Given the description of an element on the screen output the (x, y) to click on. 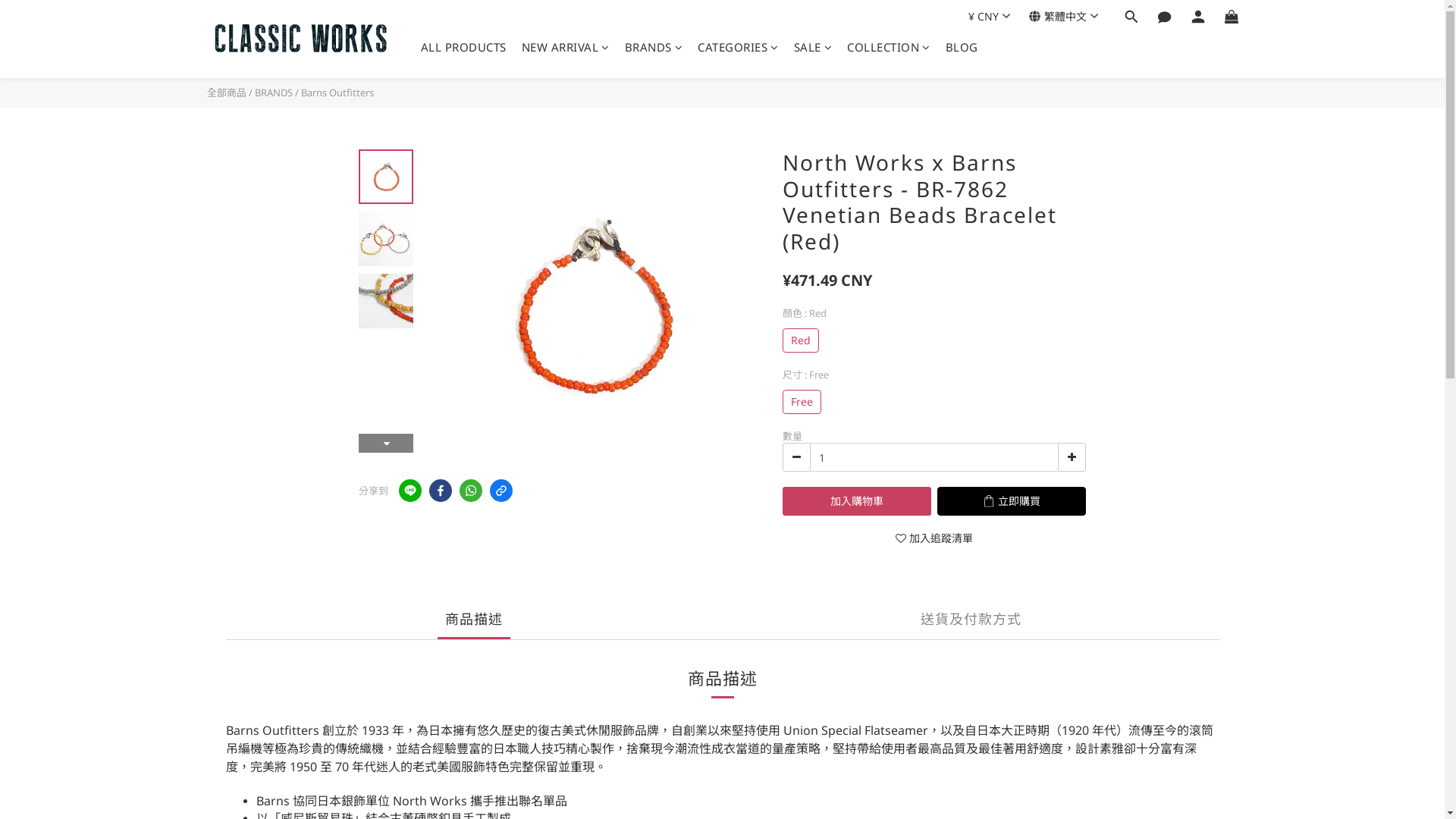
copy link Element type: hover (500, 490)
BRANDS Element type: text (653, 47)
ALL PRODUCTS Element type: text (462, 47)
Barns Outfitters Element type: text (336, 92)
SALE Element type: text (812, 47)
BLOG Element type: text (960, 47)
facebook Element type: hover (440, 490)
COLLECTION Element type: text (888, 47)
NEW ARRIVAL Element type: text (565, 47)
BRANDS Element type: text (273, 92)
line Element type: hover (409, 490)
whatsapp Element type: hover (470, 490)
CATEGORIES Element type: text (737, 47)
